Given the description of an element on the screen output the (x, y) to click on. 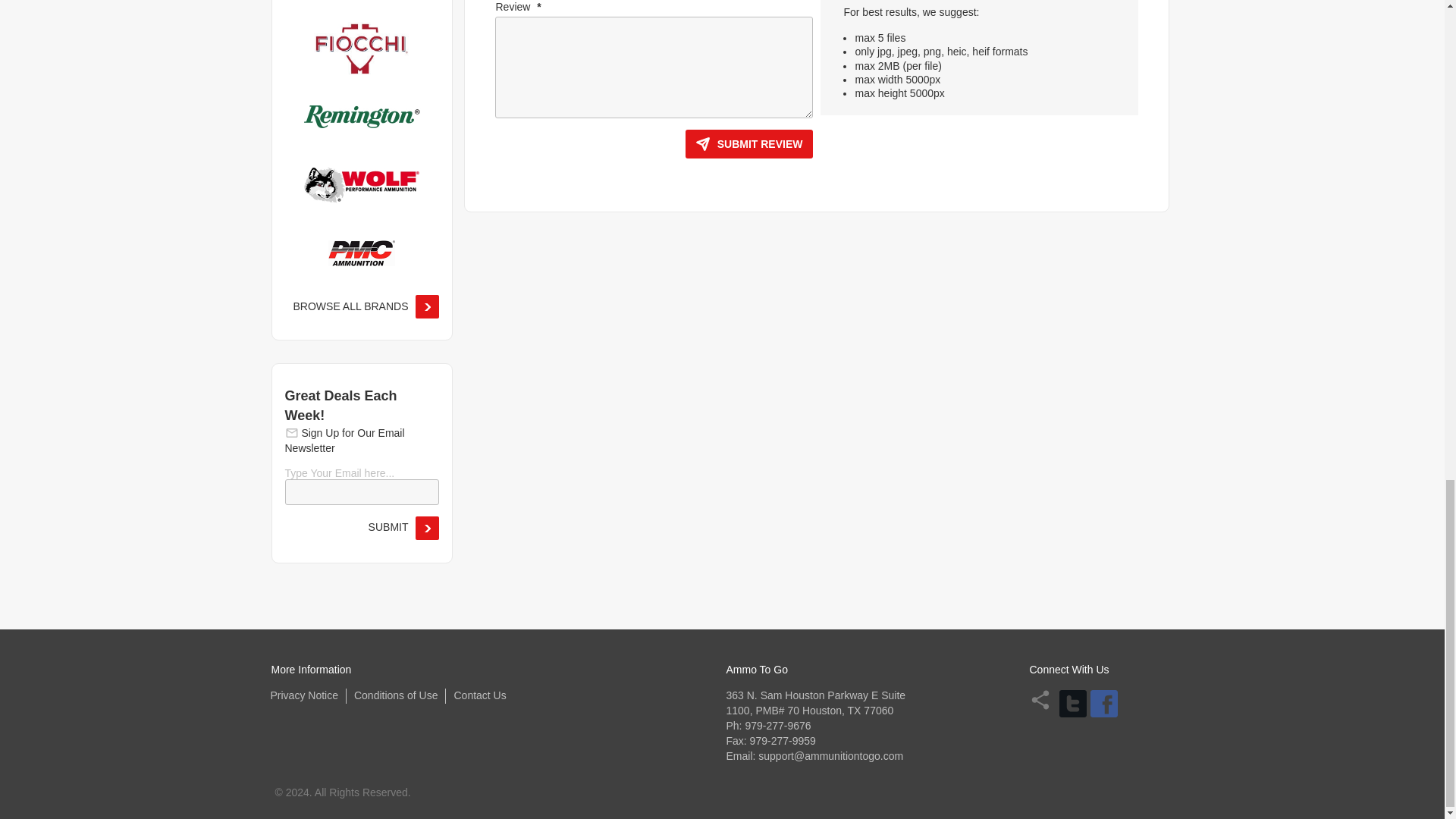
Submit Review (749, 143)
SUBMIT REVIEW (749, 143)
